Given the description of an element on the screen output the (x, y) to click on. 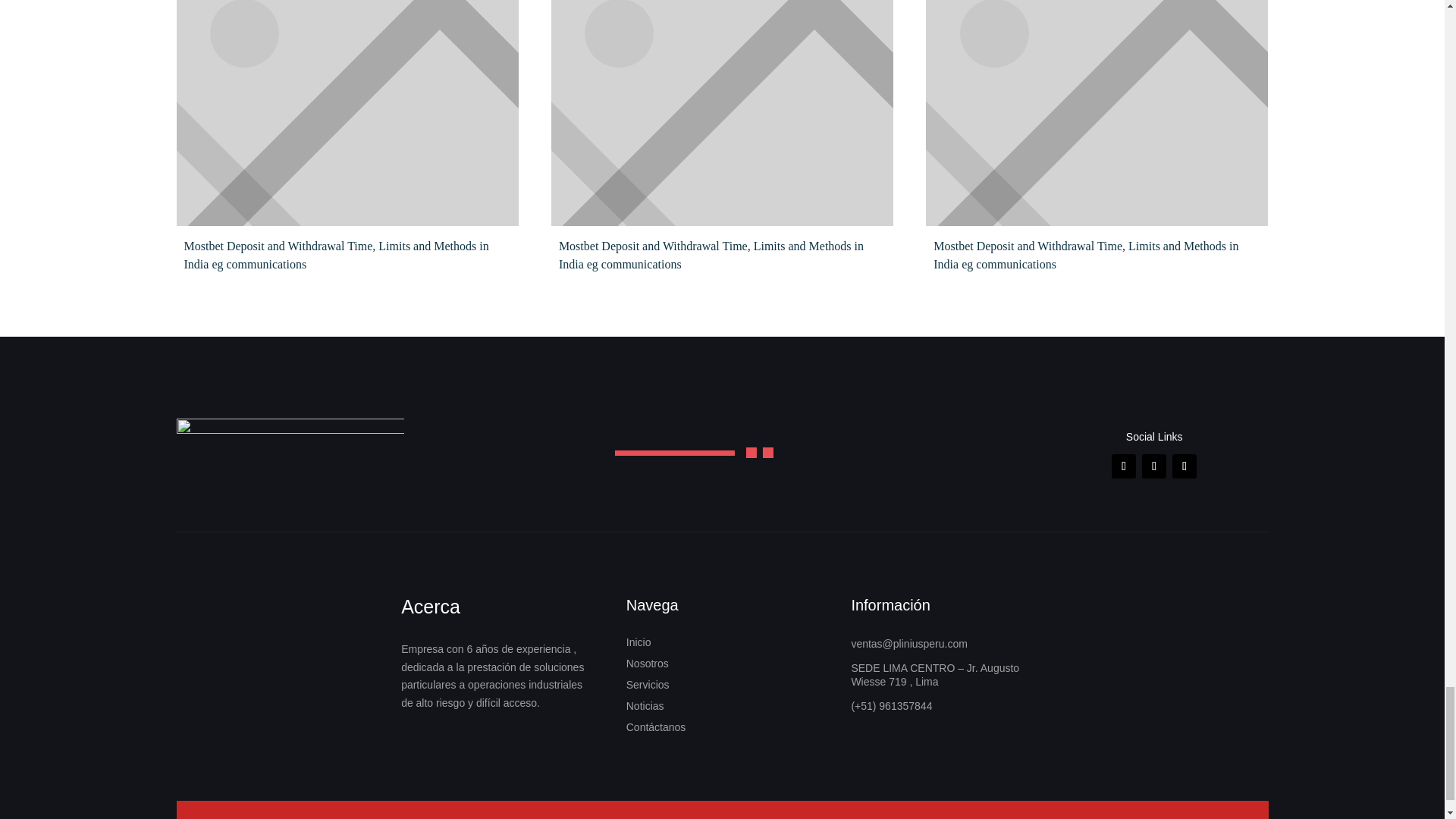
Follow on Instagram (1153, 466)
Follow on Youtube (1184, 466)
Logo-Plinius-Color-02 (290, 455)
Follow on Facebook (1123, 466)
